Given the description of an element on the screen output the (x, y) to click on. 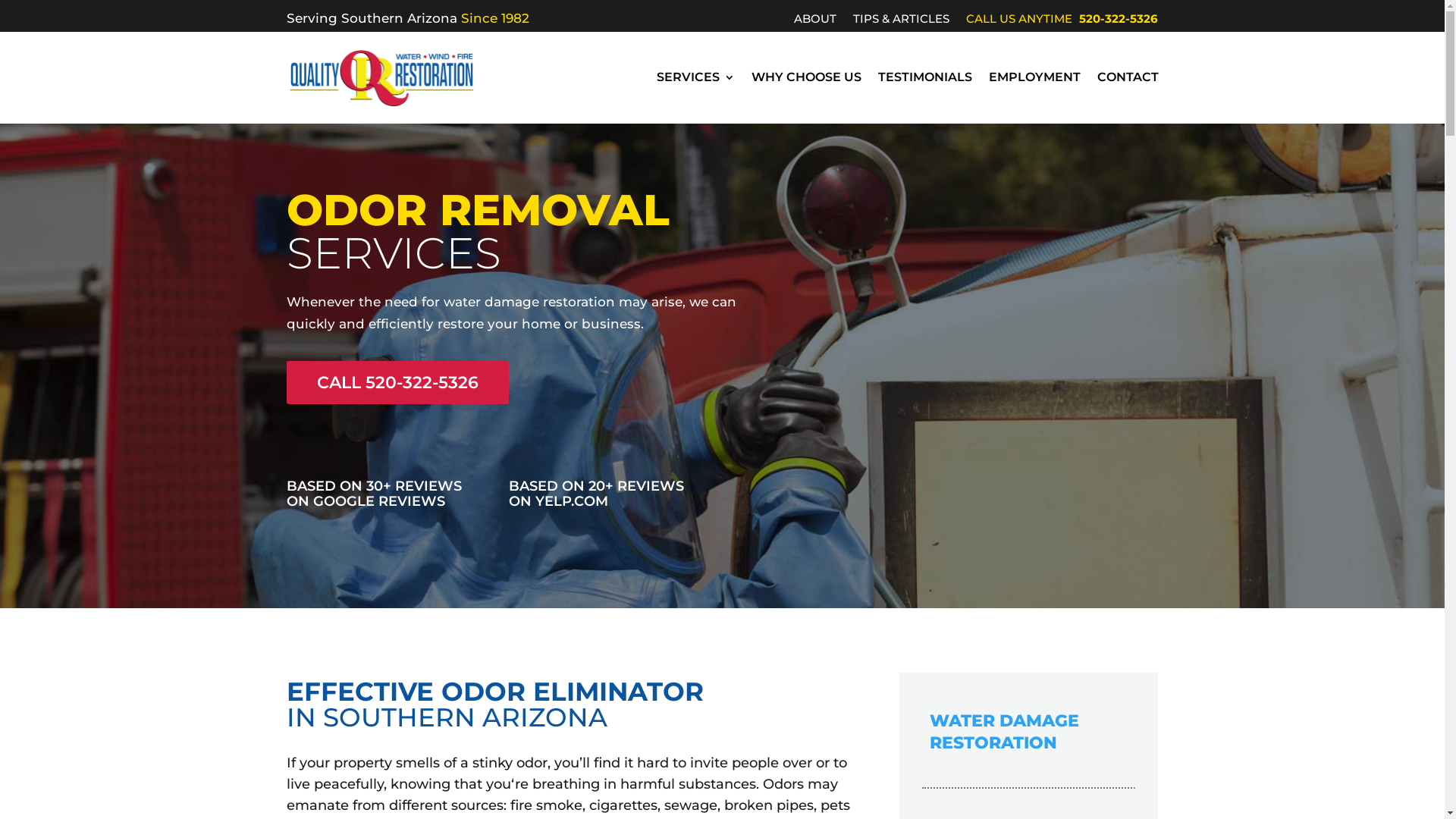
TIPS & ARTICLES Element type: text (901, 21)
TESTIMONIALS Element type: text (925, 77)
CALL 520-322-5326 Element type: text (397, 382)
CALL US ANYTIME 520-322-5326 Element type: text (1061, 21)
SERVICES Element type: text (695, 77)
ABOUT Element type: text (814, 21)
CONTACT Element type: text (1126, 77)
WHY CHOOSE US Element type: text (805, 77)
WATER DAMAGE
RESTORATION Element type: text (1028, 732)
EMPLOYMENT Element type: text (1034, 77)
